Given the description of an element on the screen output the (x, y) to click on. 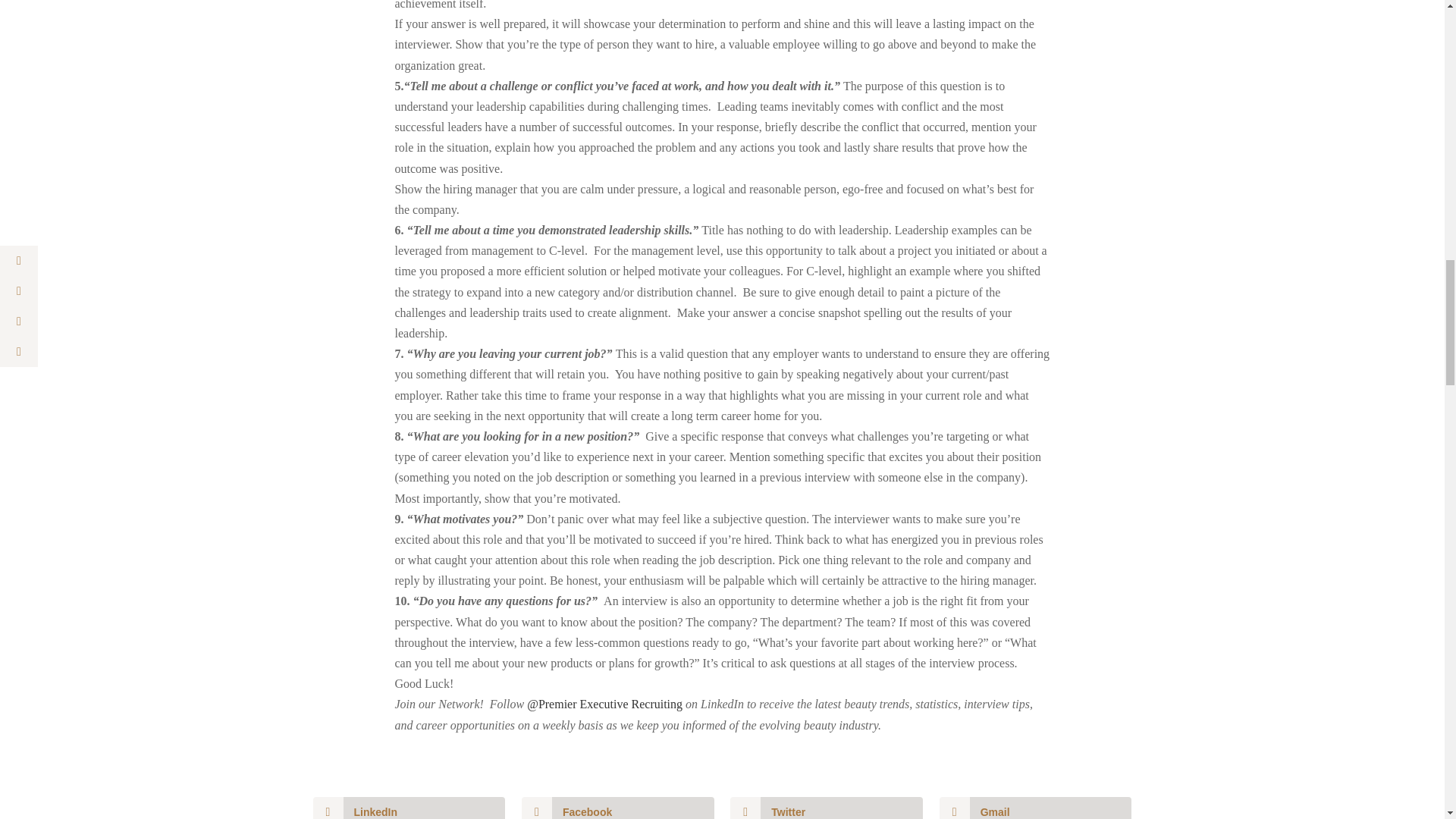
Facebook (617, 807)
Gmail (1035, 807)
LinkedIn (409, 807)
Twitter (826, 807)
